Given the description of an element on the screen output the (x, y) to click on. 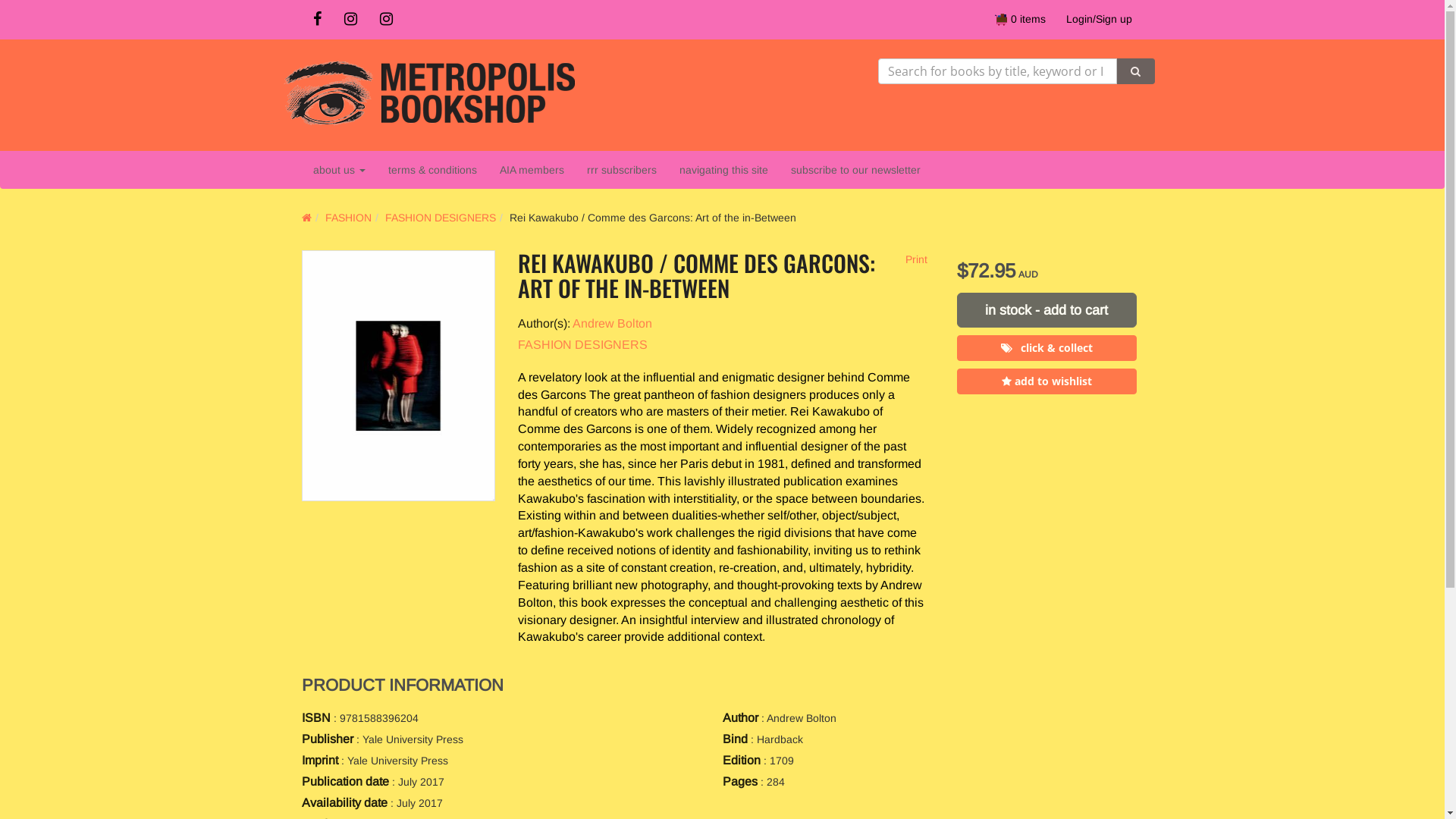
rrr subscribers Element type: text (620, 169)
FASHION Element type: text (347, 217)
subscribe to our newsletter Element type: text (855, 169)
terms & conditions Element type: text (431, 169)
Rei Kawakubo / Comme des Garcons: Art of the in-Between Element type: hover (398, 375)
FASHION DESIGNERS Element type: text (581, 344)
0 items Element type: text (1019, 18)
 Print Element type: text (914, 259)
about us  Element type: text (338, 169)
add to wishlist Element type: text (1046, 381)
navigating this site Element type: text (722, 169)
FASHION DESIGNERS Element type: text (440, 217)
click & collect Element type: text (1046, 347)
Login/Sign up Element type: text (1098, 18)
add to cart Element type: text (1046, 309)
Andrew Bolton Element type: text (611, 322)
AIA members Element type: text (531, 169)
0 items Element type: text (1019, 18)
